Given the description of an element on the screen output the (x, y) to click on. 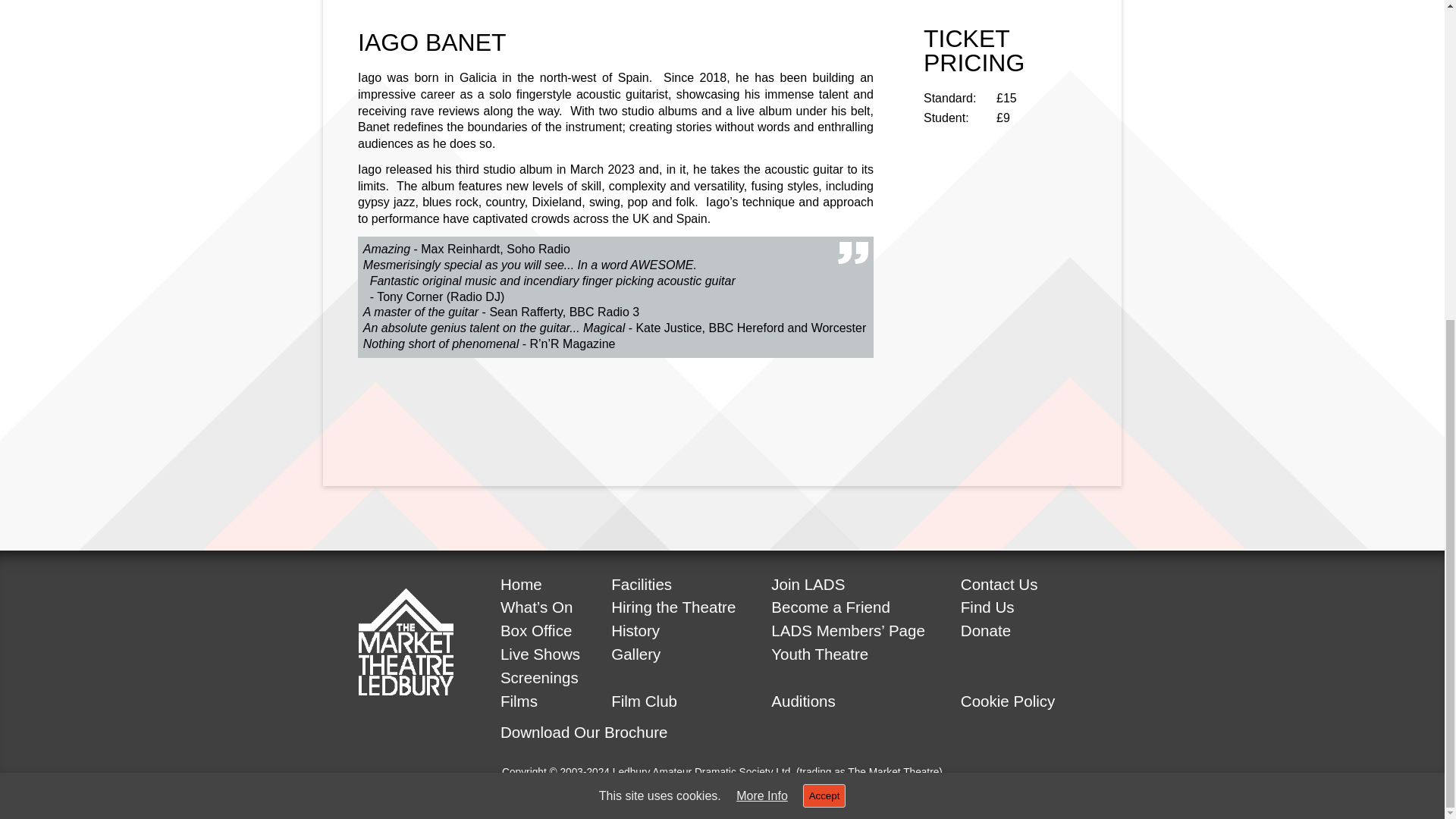
Film Club (644, 701)
History of The Market Theatre Ledbury (635, 630)
Box Office (536, 630)
Become a Friend (830, 606)
Youth Theatre (819, 653)
Films (518, 701)
Theatre Box Office (536, 630)
The Market Theatre Ledbury (520, 583)
Youth Theatre (819, 653)
Join LADS (807, 583)
Screenings (539, 677)
Join LADS (807, 583)
Photo Gallery (636, 653)
Live Shows (539, 653)
Film Club (644, 701)
